Given the description of an element on the screen output the (x, y) to click on. 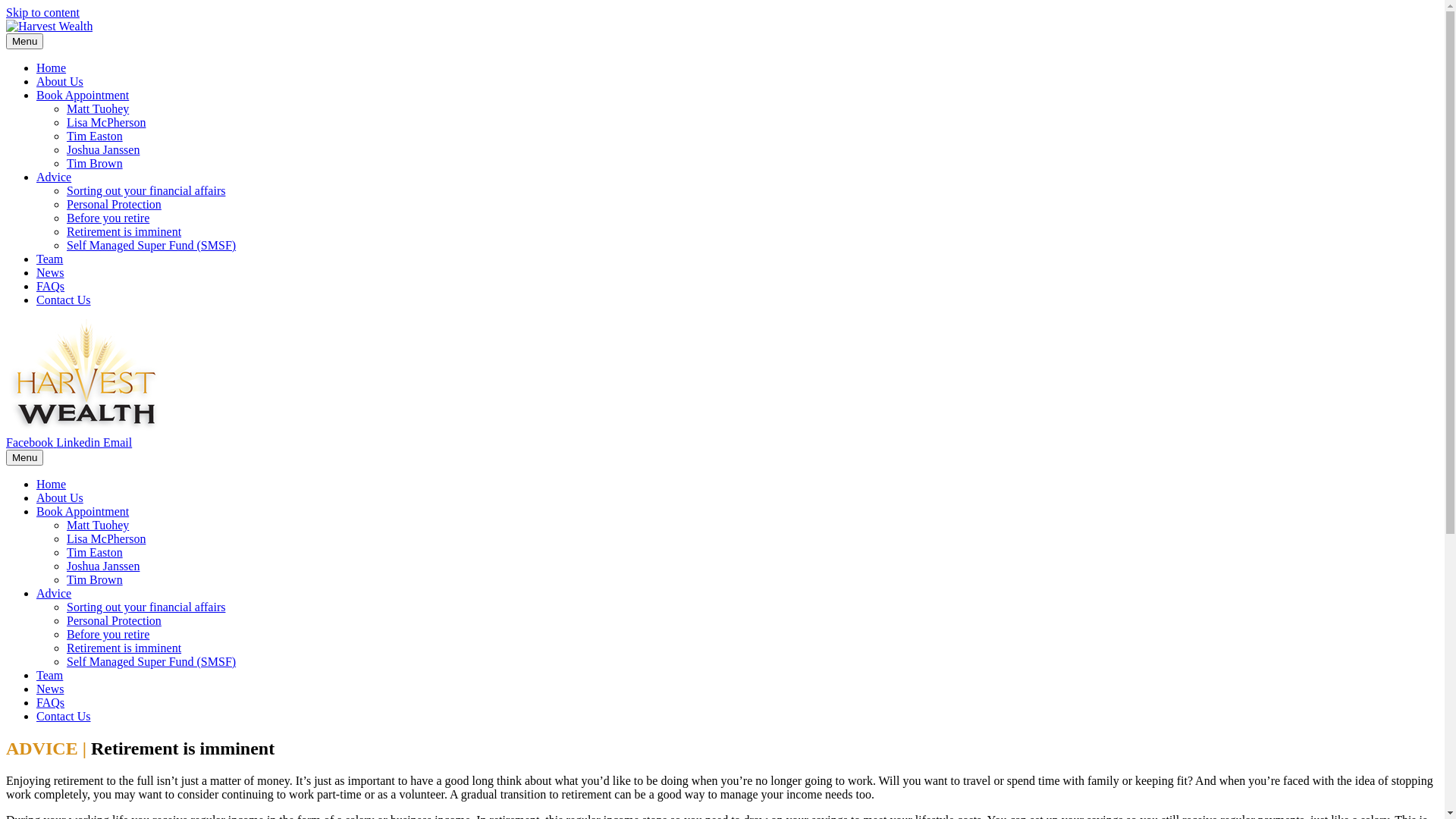
News Element type: text (49, 272)
Book Appointment Element type: text (82, 511)
Home Element type: text (50, 483)
Menu Element type: text (24, 457)
Personal Protection Element type: text (113, 620)
Joshua Janssen Element type: text (102, 149)
Email Element type: text (117, 442)
Skip to content Element type: text (42, 12)
Before you retire Element type: text (107, 217)
Facebook Element type: text (31, 442)
Personal Protection Element type: text (113, 203)
About Us Element type: text (59, 81)
Team Element type: text (49, 674)
Matt Tuohey Element type: text (97, 108)
Advice Element type: text (53, 592)
Matt Tuohey Element type: text (97, 524)
About Us Element type: text (59, 497)
Menu Element type: text (24, 41)
Contact Us Element type: text (63, 299)
Joshua Janssen Element type: text (102, 565)
Contact Us Element type: text (63, 715)
FAQs Element type: text (50, 285)
Lisa McPherson Element type: text (105, 122)
Self Managed Super Fund (SMSF) Element type: text (150, 244)
Sorting out your financial affairs Element type: text (145, 190)
News Element type: text (49, 688)
Tim Brown Element type: text (94, 162)
Lisa McPherson Element type: text (105, 538)
Book Appointment Element type: text (82, 94)
Self Managed Super Fund (SMSF) Element type: text (150, 661)
FAQs Element type: text (50, 702)
Linkedin Element type: text (79, 442)
Tim Easton Element type: text (94, 552)
Home Element type: text (50, 67)
Team Element type: text (49, 258)
Advice Element type: text (53, 176)
Before you retire Element type: text (107, 633)
Tim Easton Element type: text (94, 135)
Retirement is imminent Element type: text (123, 647)
Retirement is imminent Element type: text (123, 231)
Tim Brown Element type: text (94, 579)
Sorting out your financial affairs Element type: text (145, 606)
